Given the description of an element on the screen output the (x, y) to click on. 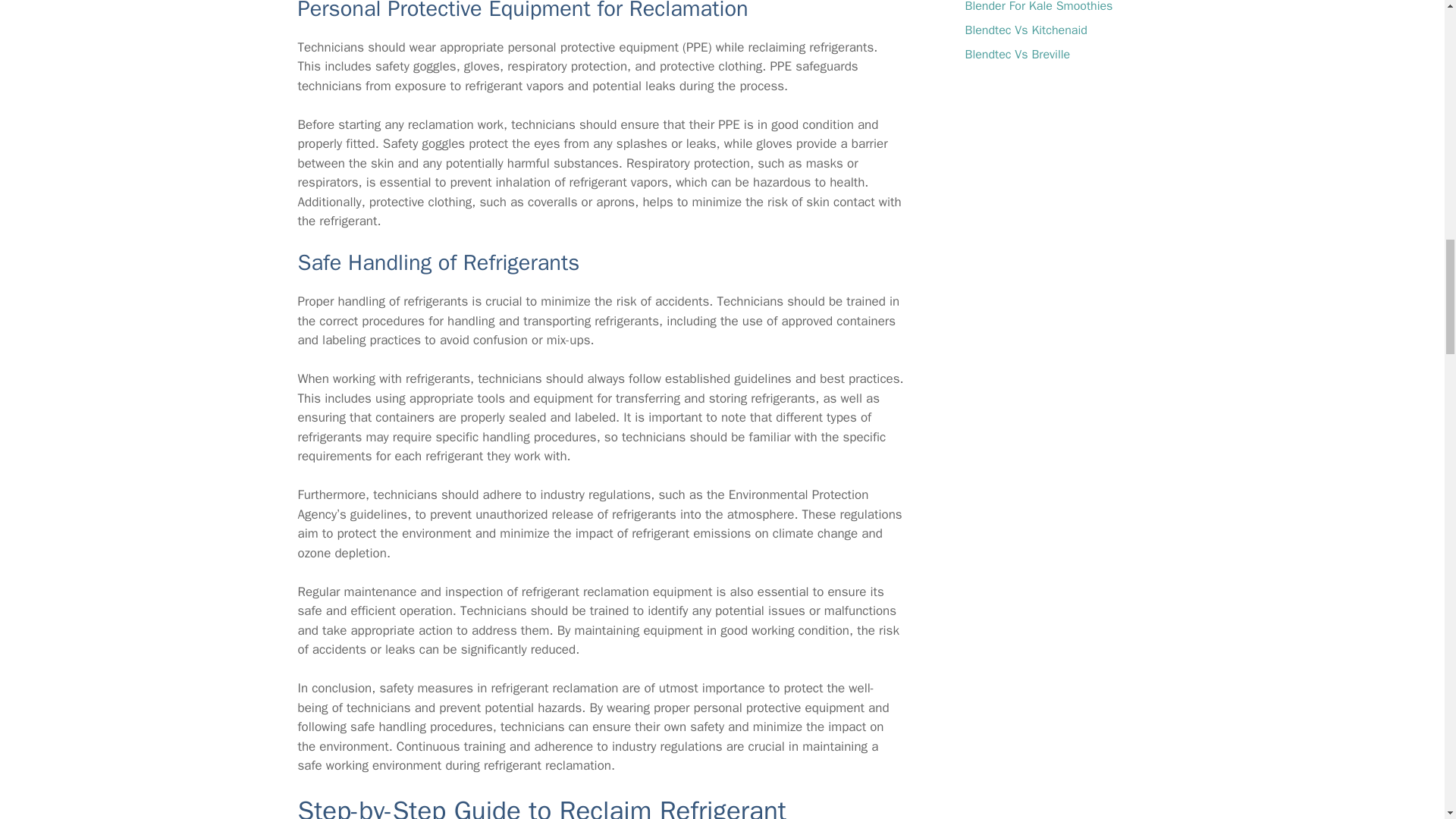
Blender For Kale Smoothies (1037, 6)
Blendtec Vs Kitchenaid (1024, 29)
Blendtec Vs Breville (1016, 54)
